Given the description of an element on the screen output the (x, y) to click on. 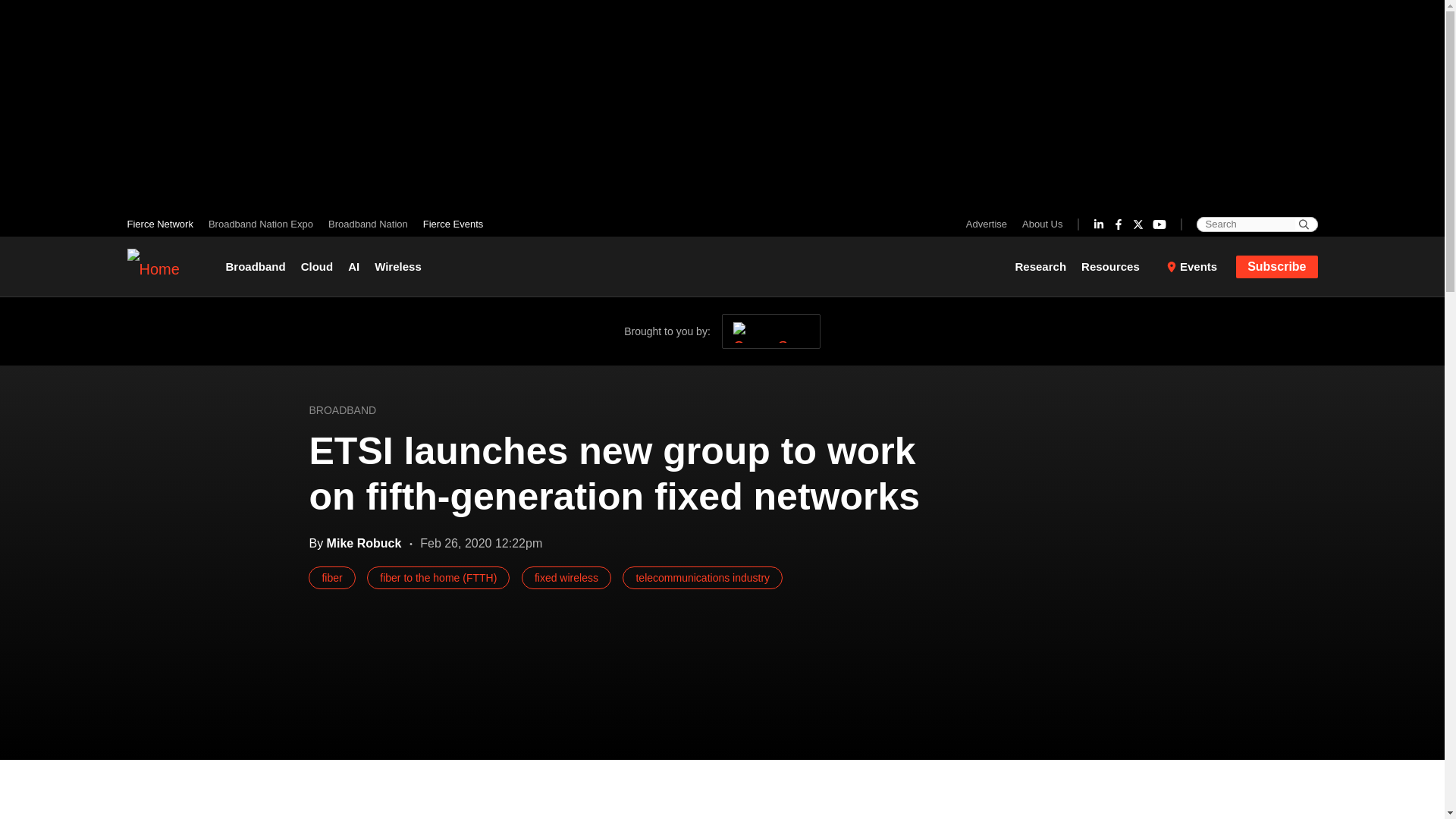
Cloud (317, 266)
Wireless (397, 266)
Advertise (990, 224)
Subscribe (1276, 265)
Fierce Events (448, 224)
AI (353, 266)
About Us (1038, 224)
Resources (1116, 266)
Research (1044, 266)
Fierce Network (164, 224)
